Given the description of an element on the screen output the (x, y) to click on. 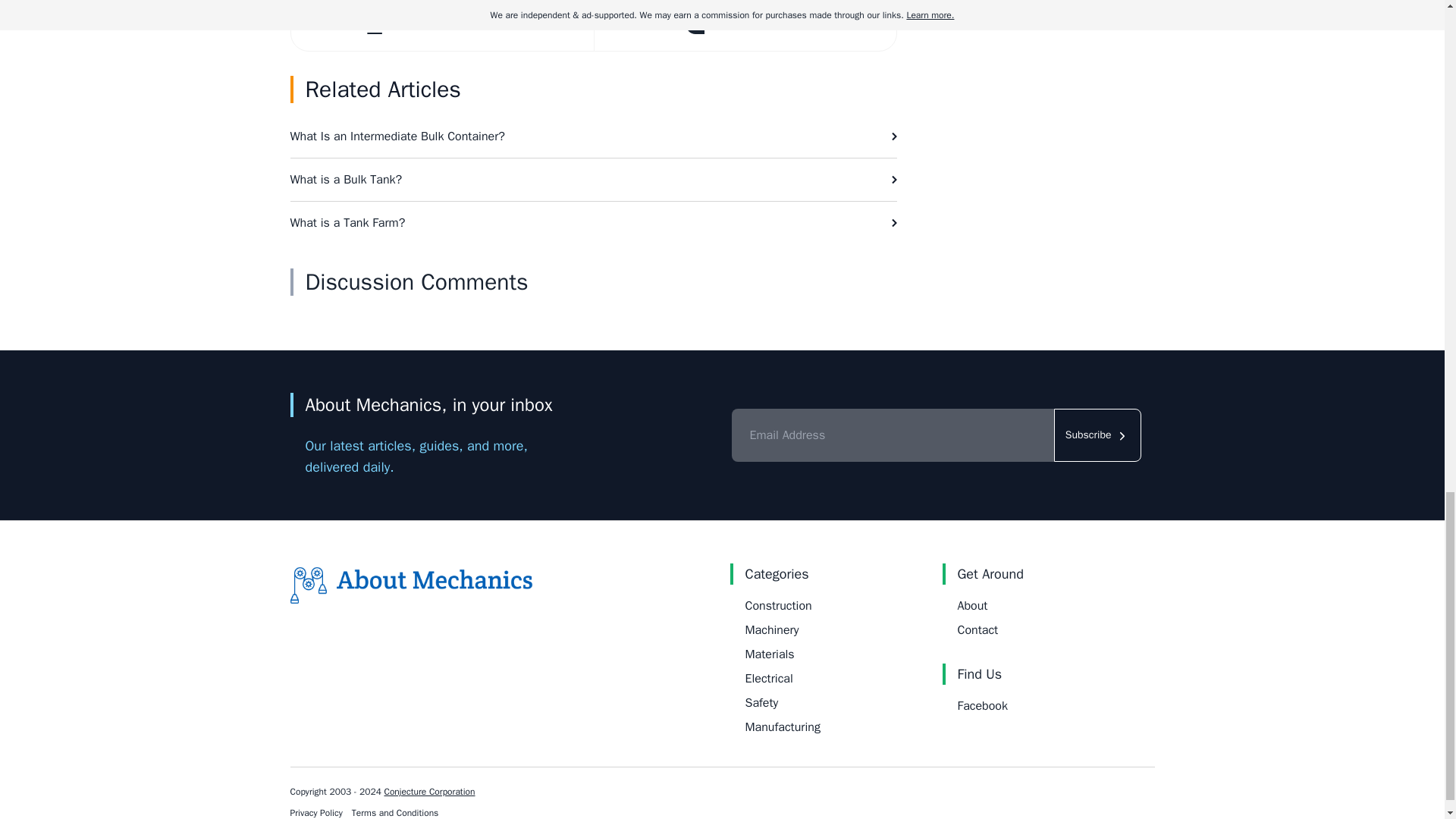
What is a Tank Farm? (592, 222)
What is a Bulk Tank? (592, 179)
What Is an Intermediate Bulk Container? (592, 136)
Share Feedback (743, 25)
See our Editorial Process (442, 25)
